Given the description of an element on the screen output the (x, y) to click on. 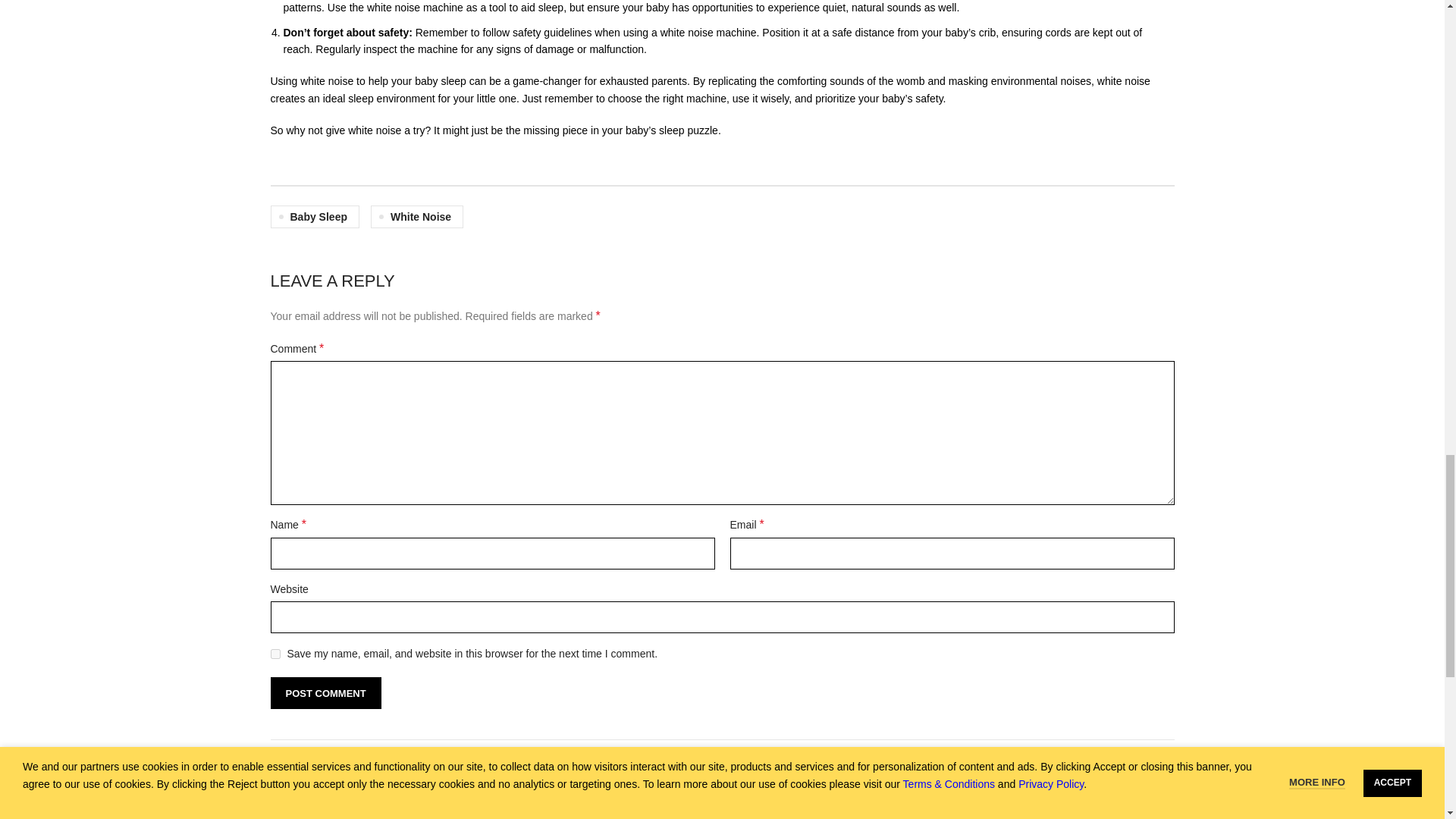
yes (274, 654)
Post Comment (324, 693)
